Given the description of an element on the screen output the (x, y) to click on. 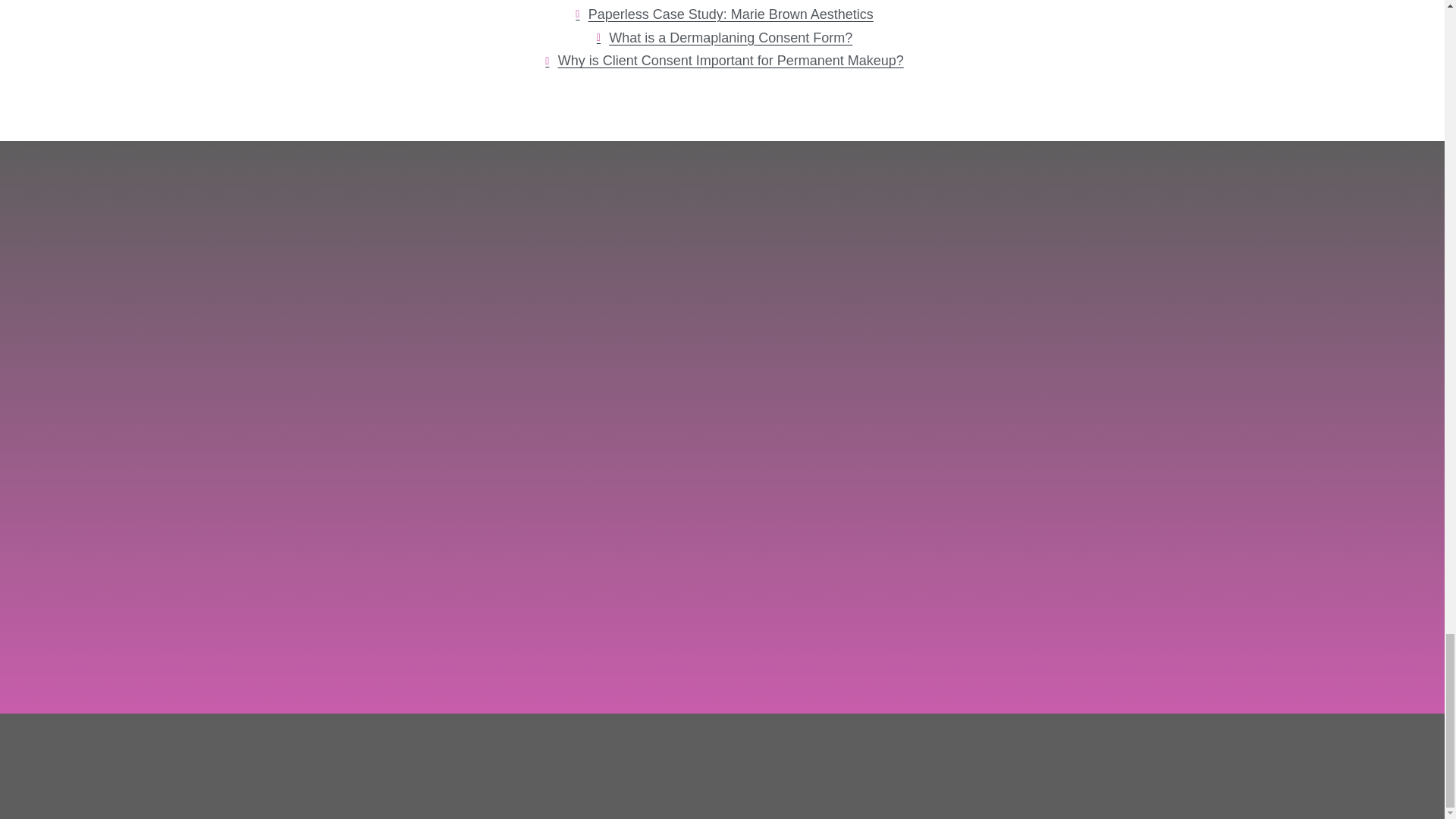
Paperless Case Study: Marie Brown Aesthetics (722, 14)
Why is Client Consent Important for Permanent Makeup? (722, 60)
Submit (476, 602)
What is a Dermaplaning Consent Form? (722, 37)
